Given the description of an element on the screen output the (x, y) to click on. 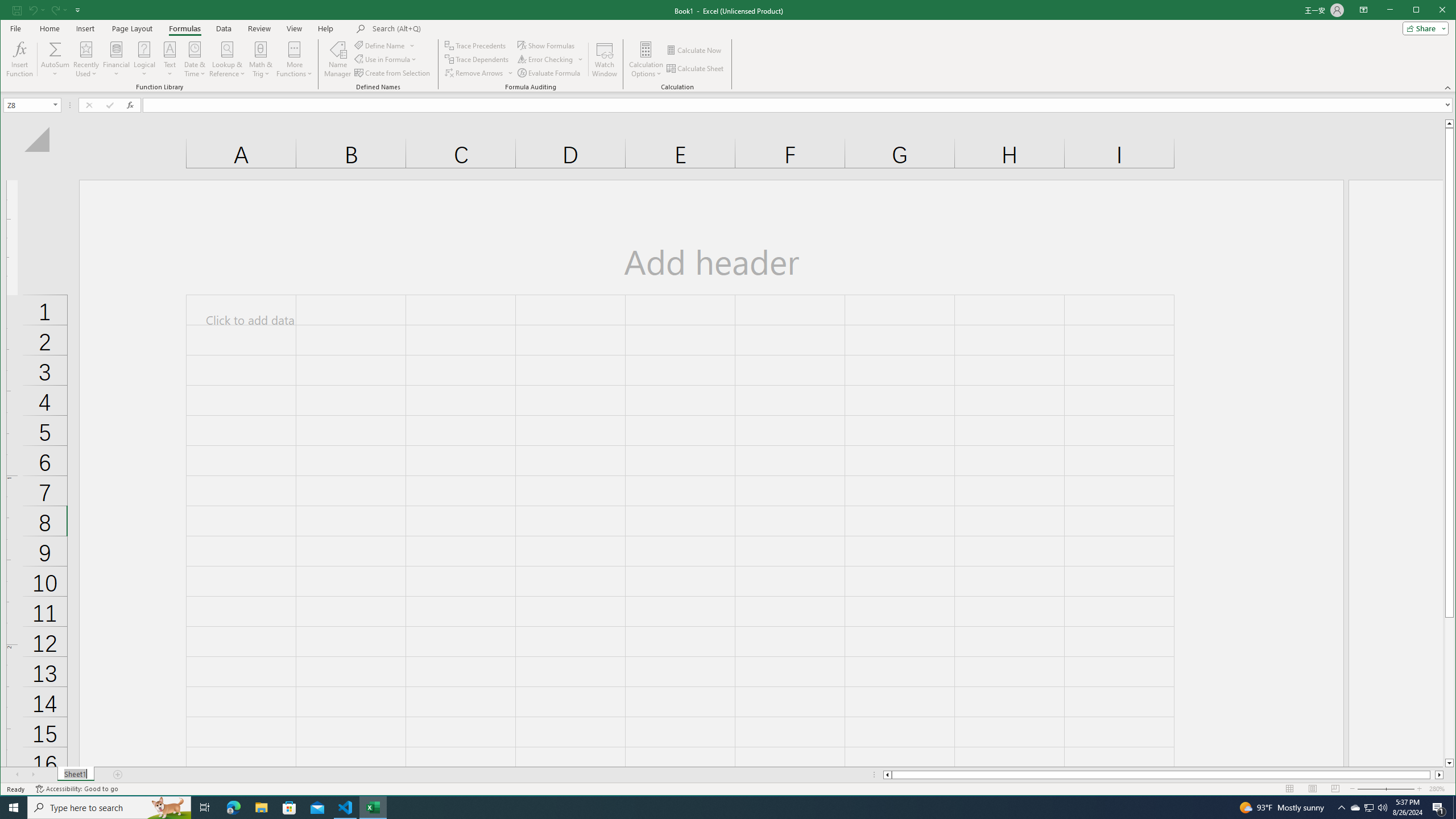
Microsoft Edge (233, 807)
Calculate Now (695, 49)
More Functions (294, 59)
Search highlights icon opens search home window (167, 807)
Start (13, 807)
Watch Window (604, 59)
File Explorer (261, 807)
